Given the description of an element on the screen output the (x, y) to click on. 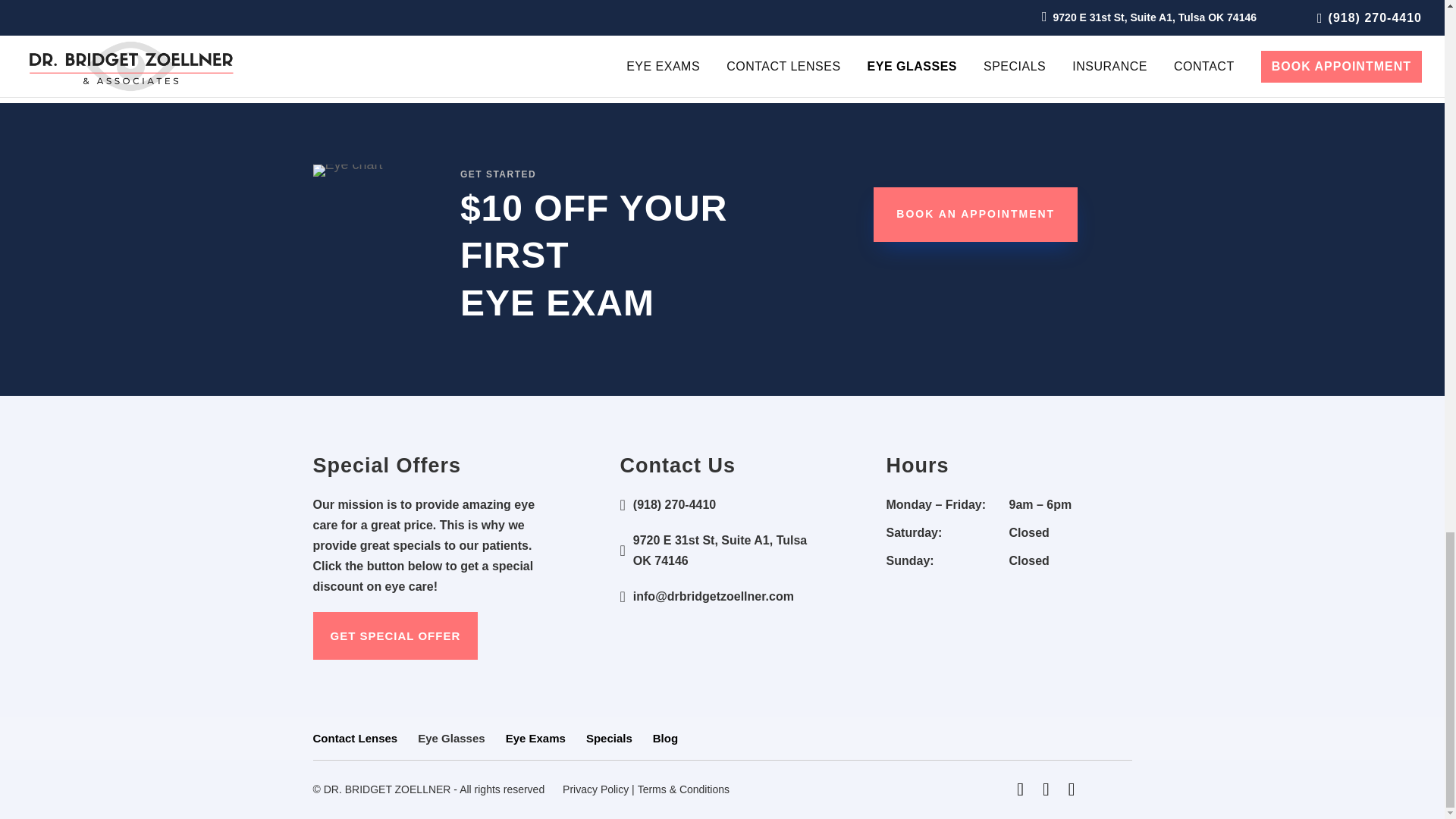
Eye Glasses (450, 738)
Contact Lenses (355, 738)
BOOK AN APPOINTMENT (975, 214)
Privacy Policy (595, 788)
CALL 918-270-4410 (721, 20)
Eye Exams (535, 738)
GET SPECIAL OFFER (395, 635)
Blog (665, 738)
Specials (608, 738)
Eye chart (347, 170)
